Given the description of an element on the screen output the (x, y) to click on. 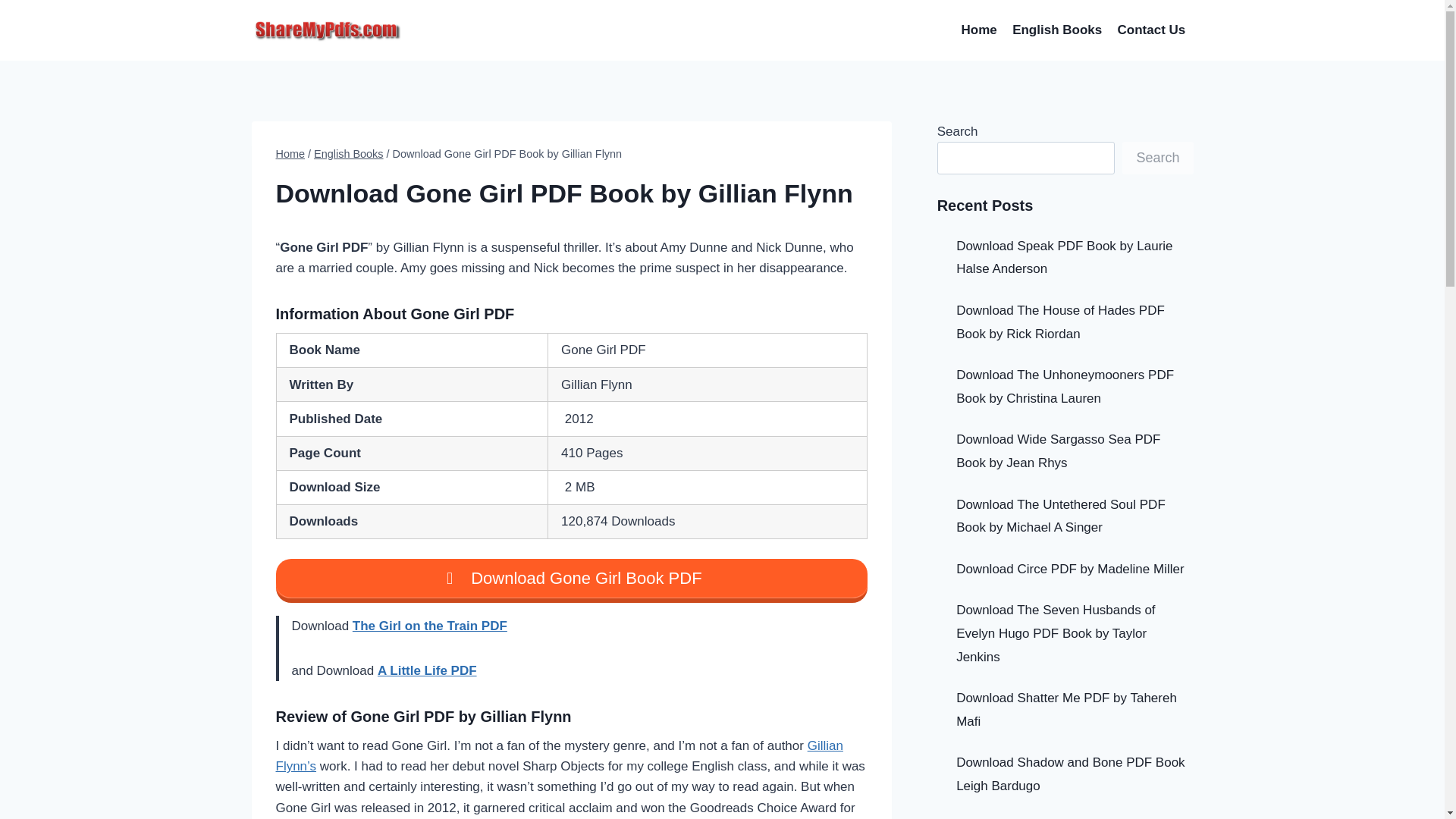
Download Gone Girl Book PDF (571, 580)
Contact Us (1150, 30)
A Little Life PDF (427, 670)
English Books (349, 153)
The Girl on the Train PDF (429, 626)
English Books (1056, 30)
Home (290, 153)
Home (978, 30)
